Given the description of an element on the screen output the (x, y) to click on. 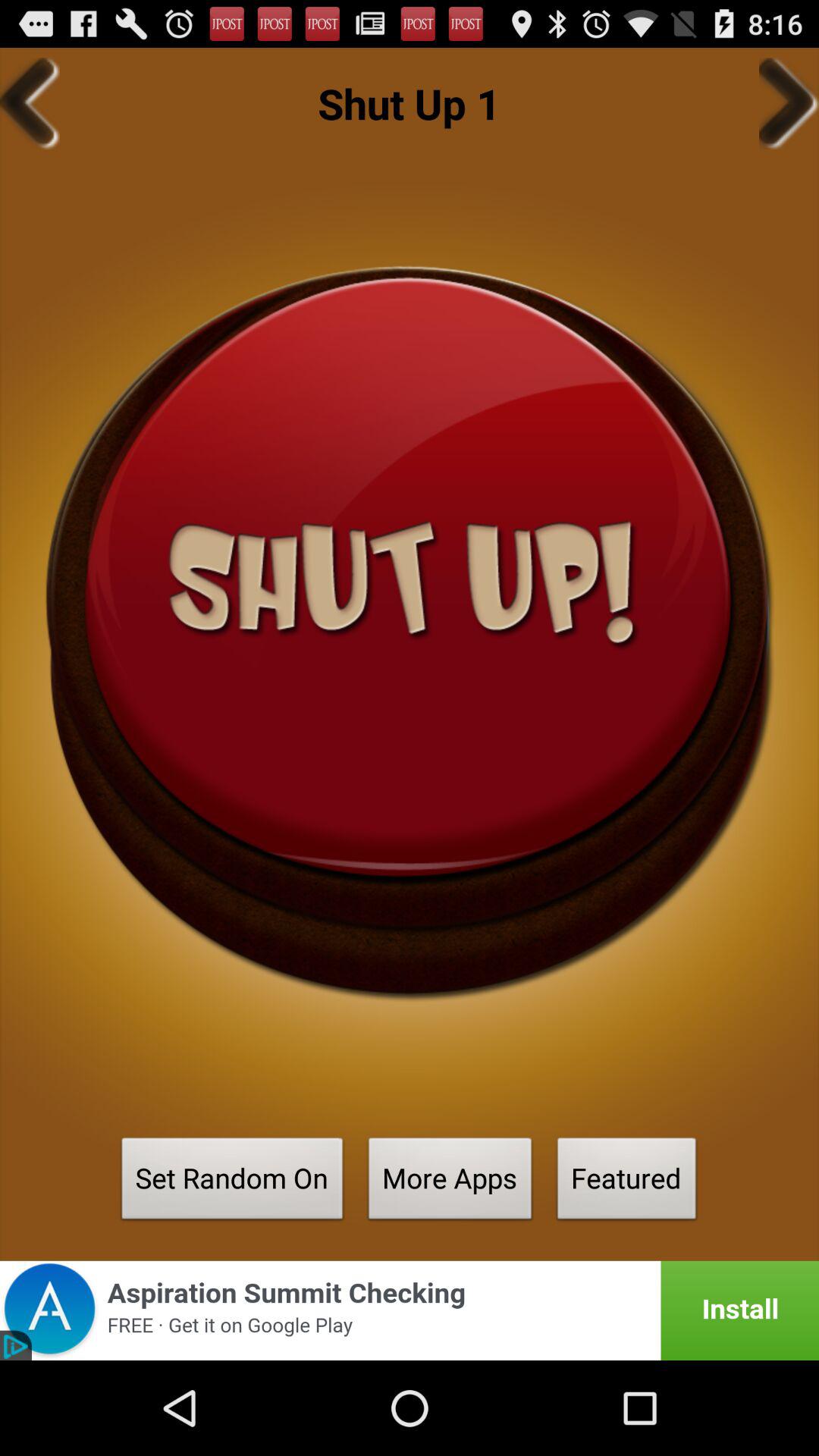
choose button to the right of more apps button (626, 1182)
